Given the description of an element on the screen output the (x, y) to click on. 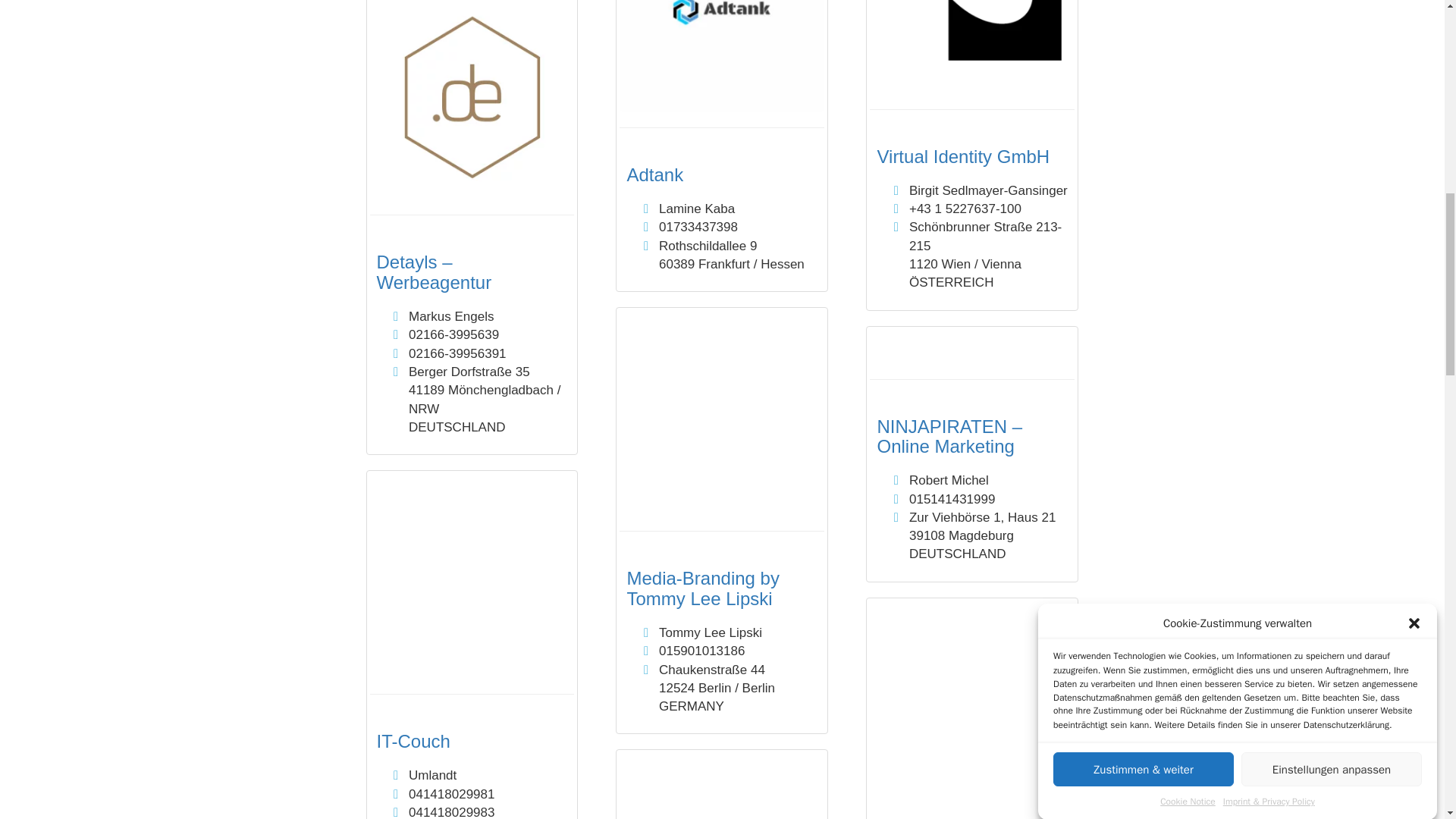
Einstellungen anpassen (1331, 80)
Cookie Notice (1187, 49)
Scroll back to top (1385, 682)
